Given the description of an element on the screen output the (x, y) to click on. 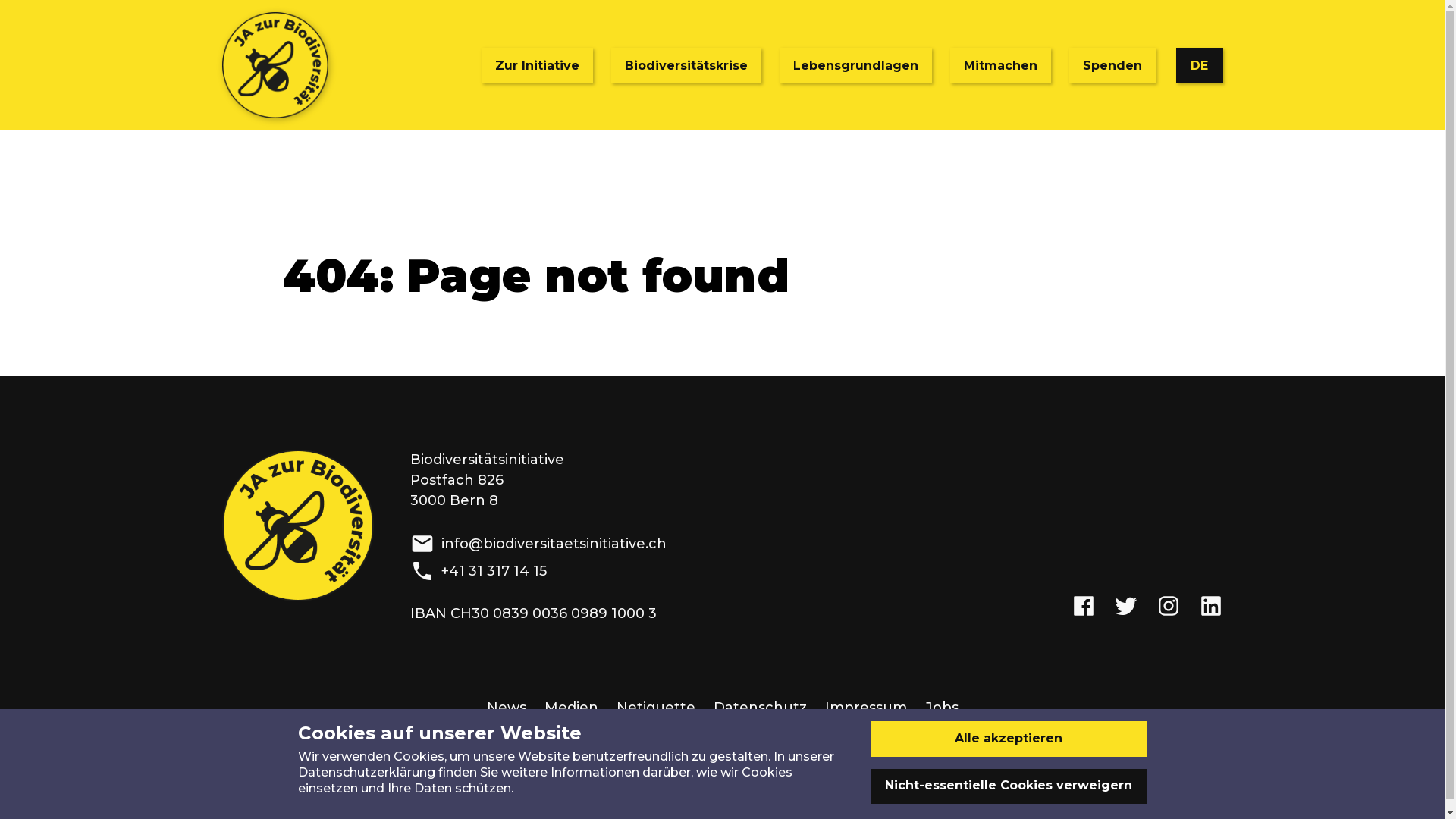
Medien Element type: text (571, 707)
Datenschutz Element type: text (759, 707)
Alle akzeptieren Element type: text (1008, 738)
+41 31 317 14 15 Element type: text (721, 570)
Jobs Element type: text (941, 707)
Zur Initiative Element type: text (536, 64)
Unsere LinkedIn-Profil Element type: hover (1210, 608)
info@biodiversitaetsinitiative.ch Element type: text (721, 543)
Unser Twitter-Kanal Element type: hover (1125, 608)
Lebensgrundlagen Element type: text (855, 64)
Zur Startseite Element type: hover (297, 525)
Zur Startseite Element type: hover (340, 65)
Spenden Element type: text (1112, 64)
News Element type: text (506, 707)
Nicht-essentielle Cookies verweigern Element type: text (1008, 785)
Impressum Element type: text (865, 707)
Unser Instagram-Profil Element type: hover (1167, 608)
Netiquette Element type: text (654, 707)
Mitmachen Element type: text (999, 64)
Unser Facebook-Profil Element type: hover (1082, 608)
DE Element type: text (1198, 64)
